Given the description of an element on the screen output the (x, y) to click on. 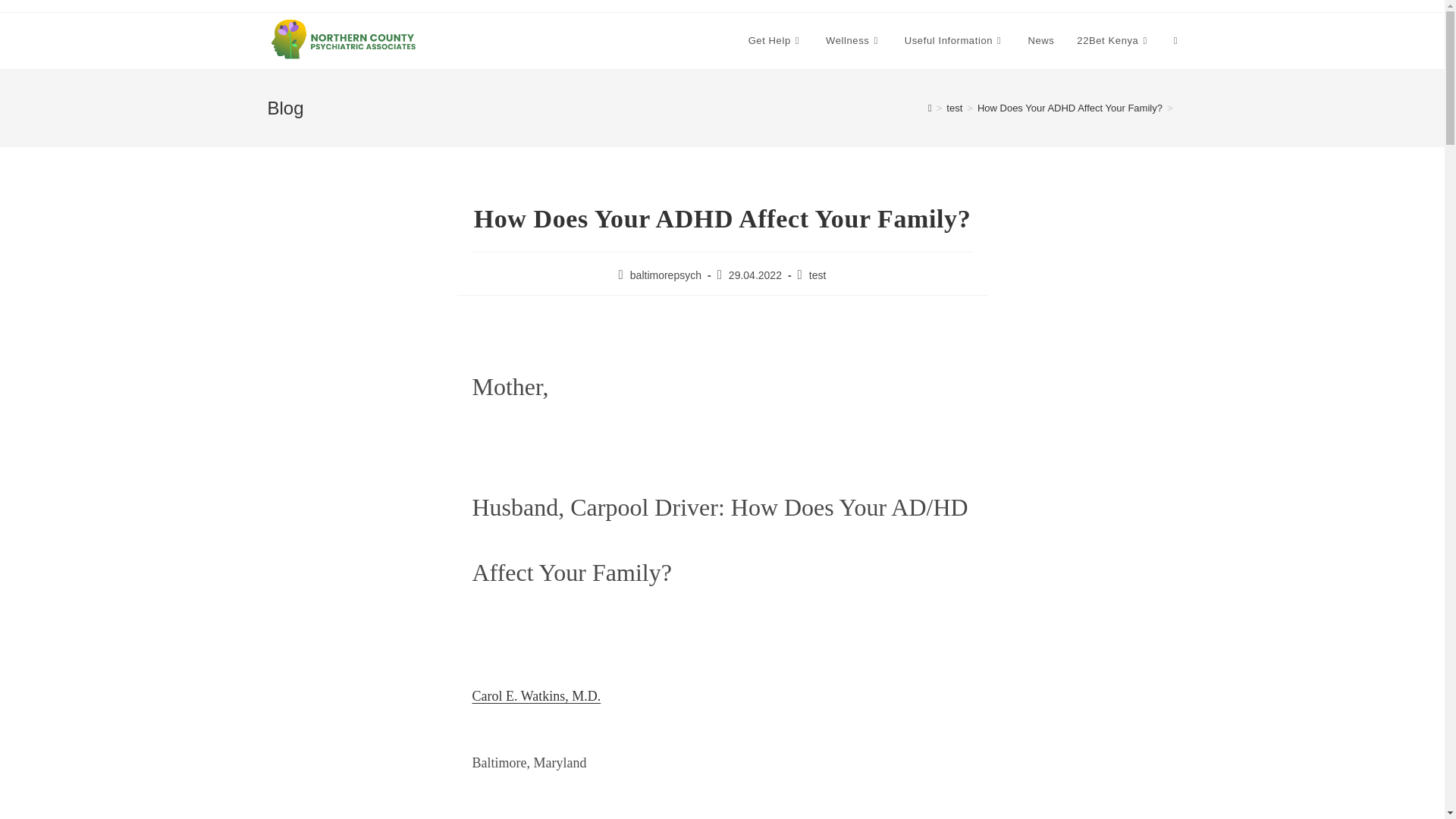
Get Help (774, 40)
Wellness (853, 40)
Posts by baltimorepsych (665, 275)
